Given the description of an element on the screen output the (x, y) to click on. 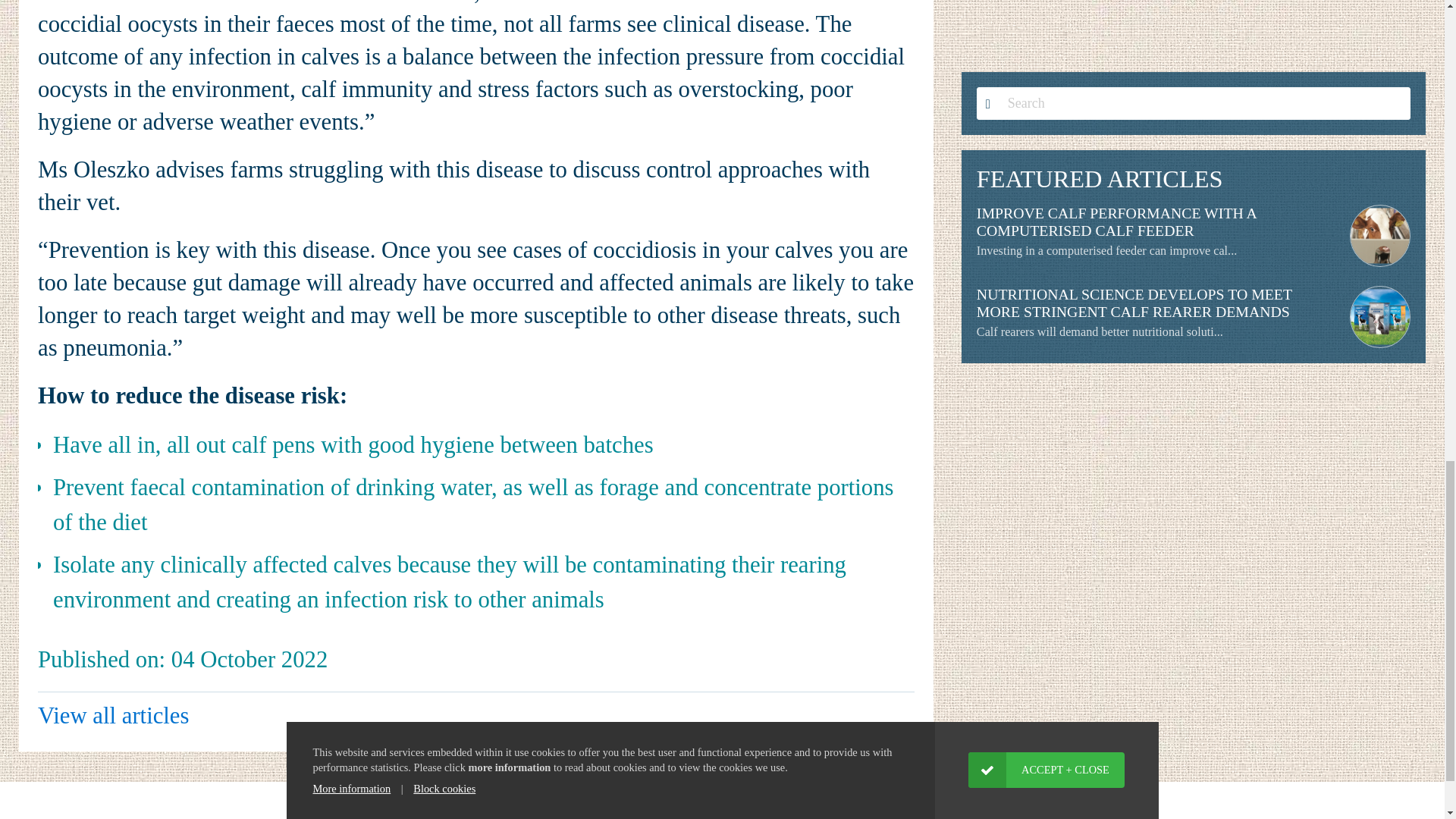
View all articles (113, 715)
